Given the description of an element on the screen output the (x, y) to click on. 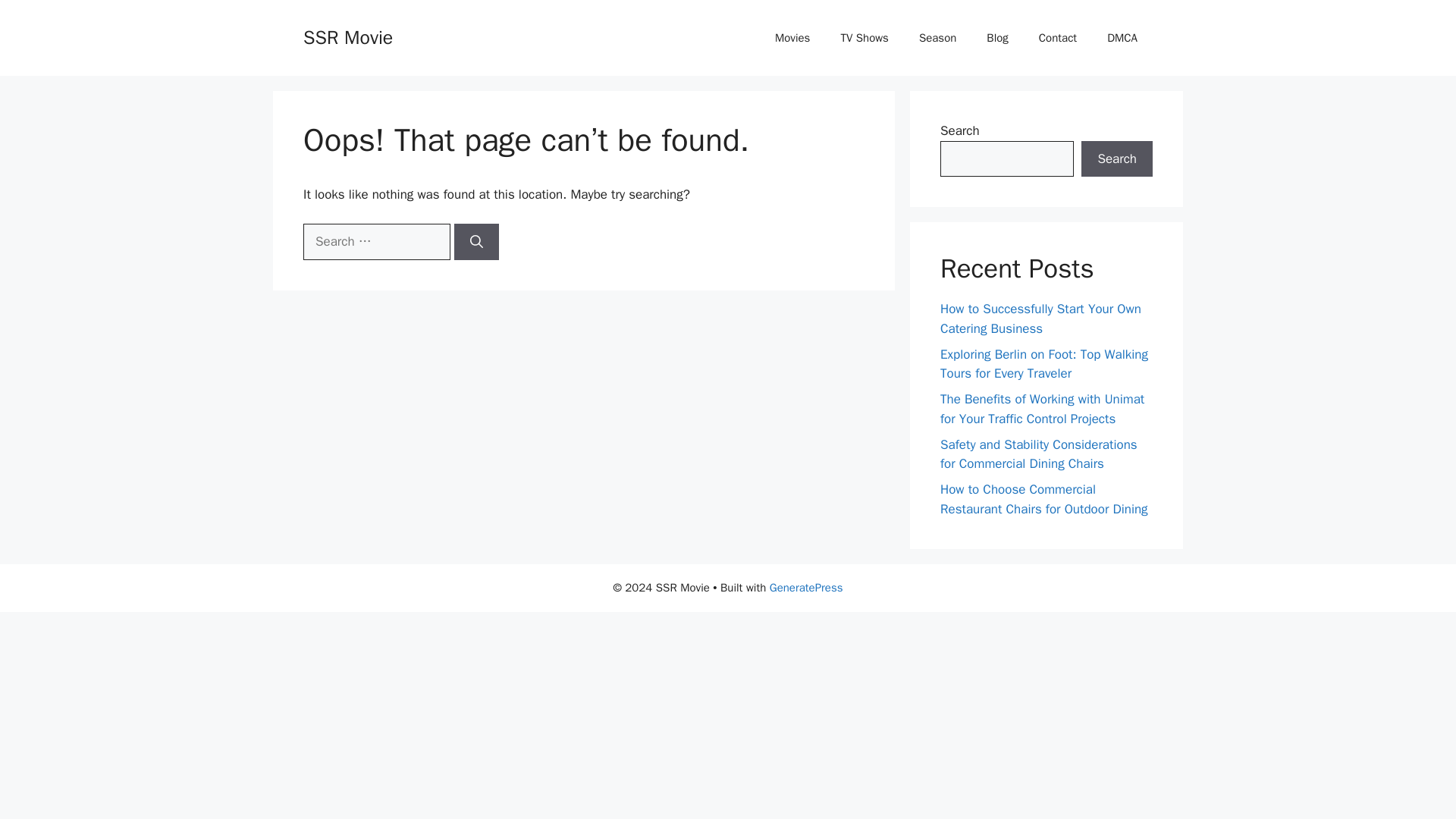
How to Successfully Start Your Own Catering Business (1040, 318)
Season (937, 37)
Search (1117, 158)
GeneratePress (806, 587)
Search for: (375, 241)
Movies (792, 37)
DMCA (1122, 37)
Contact (1057, 37)
